Given the description of an element on the screen output the (x, y) to click on. 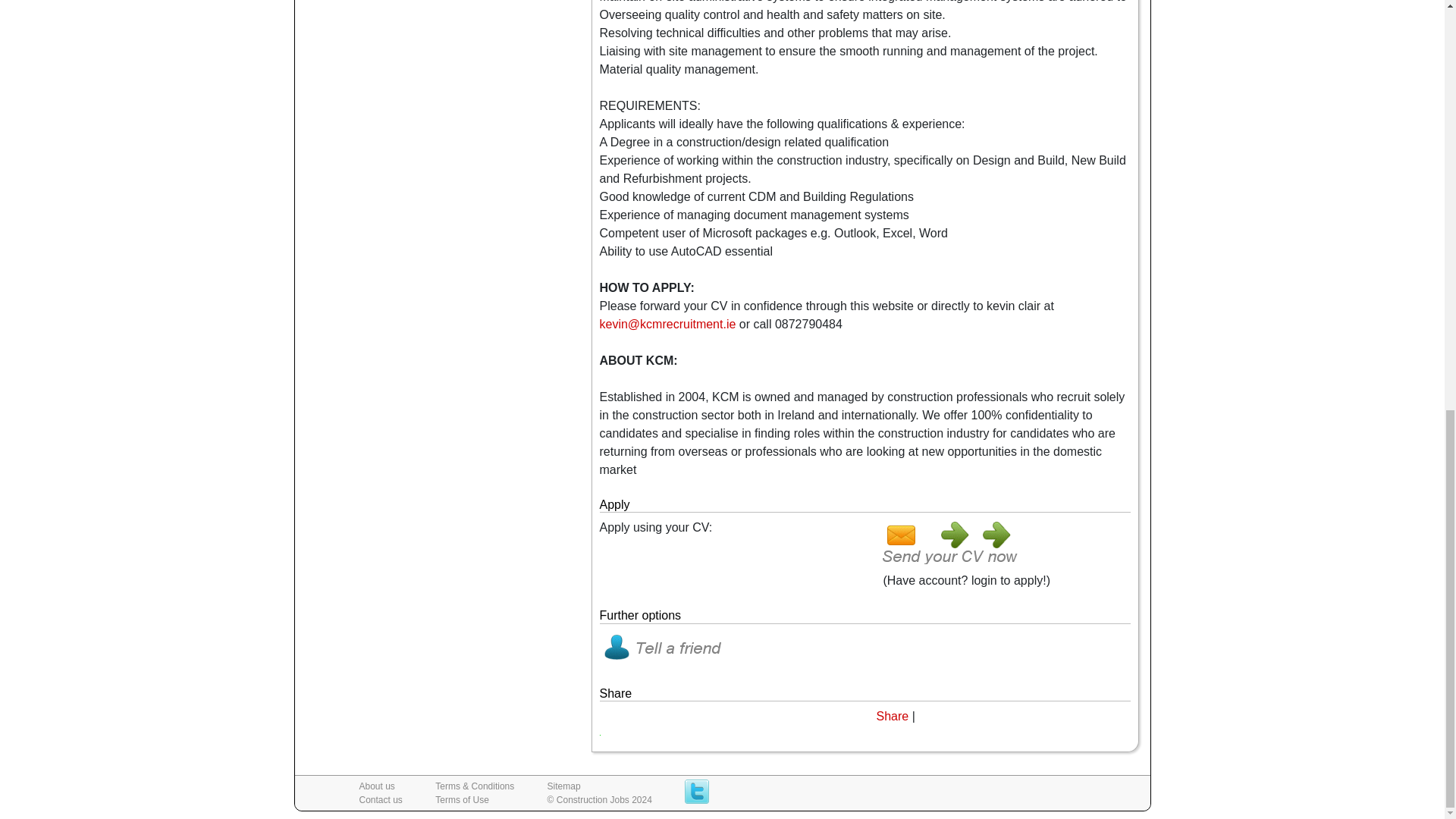
Share (892, 716)
